Given the description of an element on the screen output the (x, y) to click on. 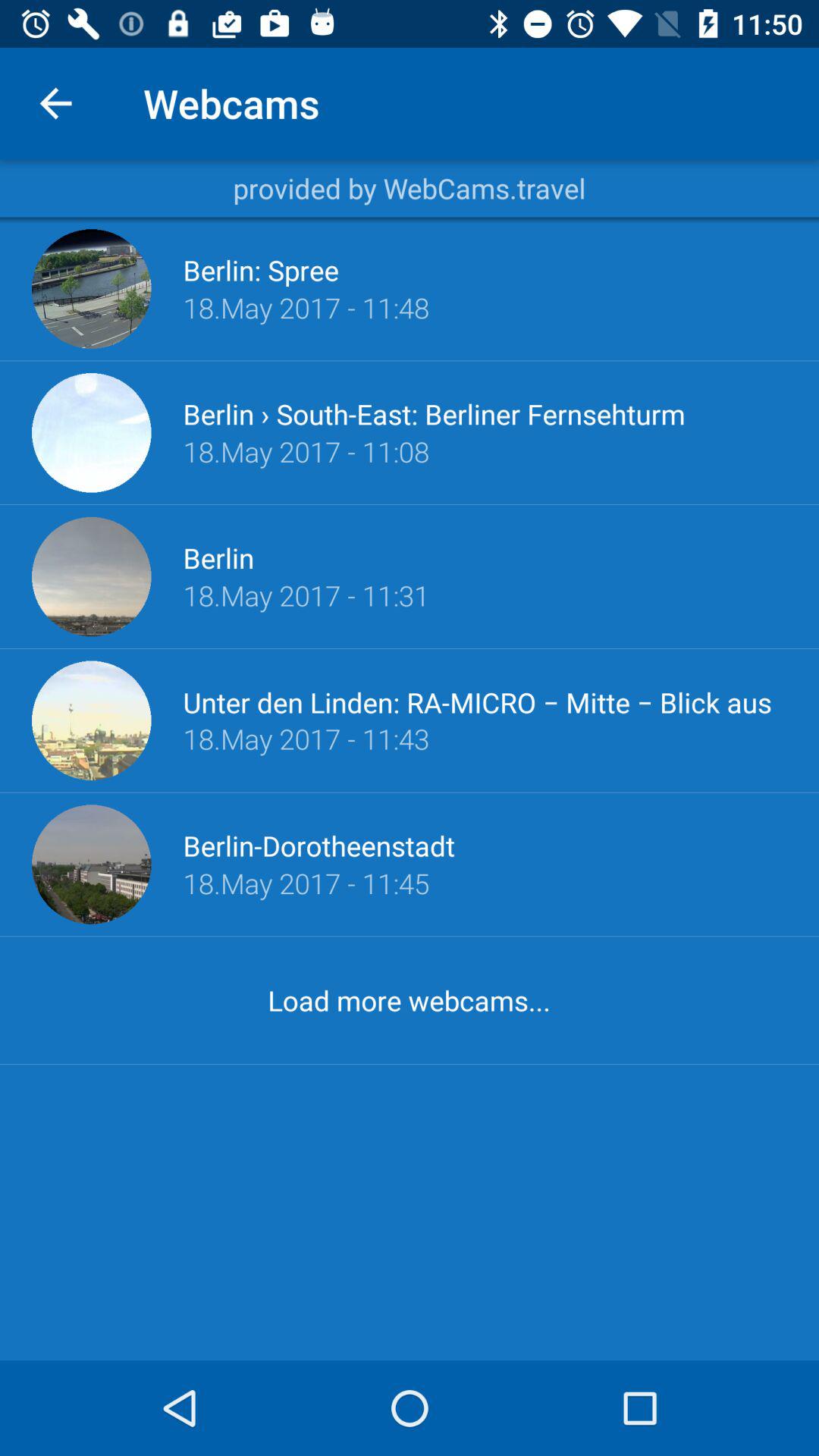
select icon below 18 may 2017 (434, 413)
